Given the description of an element on the screen output the (x, y) to click on. 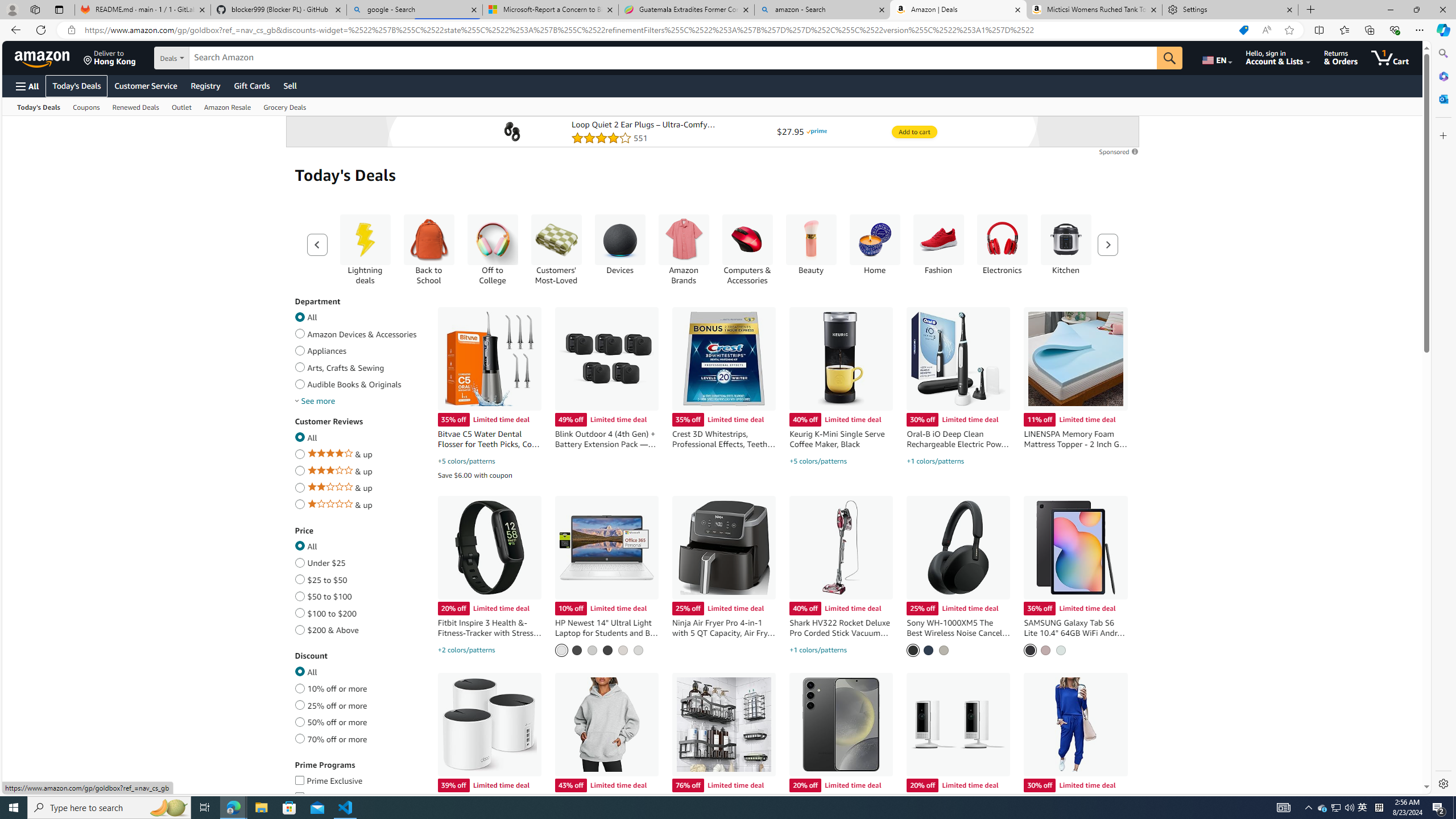
Prime Exclusive (299, 777)
Jet Black (576, 649)
Hello, sign in Account & Lists (1278, 57)
Average review star rating of 4 and up (299, 452)
Customers' Most-Loved (555, 249)
Kitchen (1065, 249)
